Given the description of an element on the screen output the (x, y) to click on. 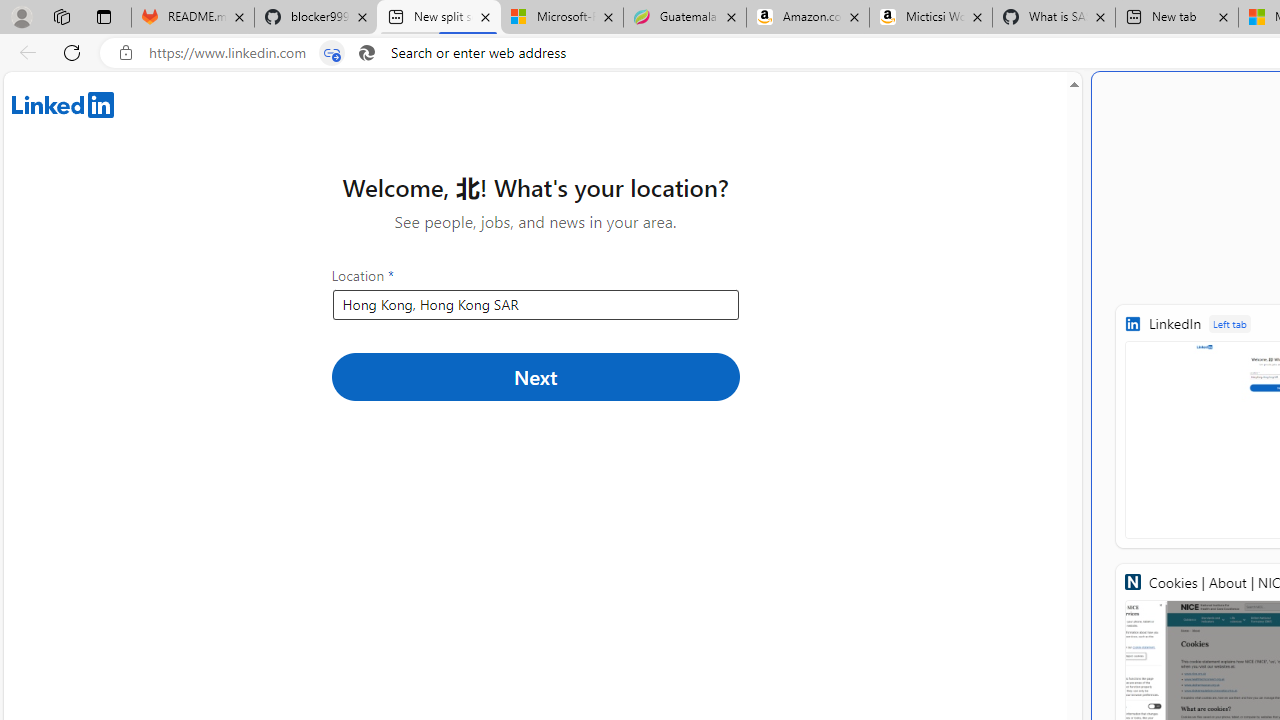
Search icon (366, 53)
Tabs in split screen (331, 53)
New split screen (438, 17)
